Given the description of an element on the screen output the (x, y) to click on. 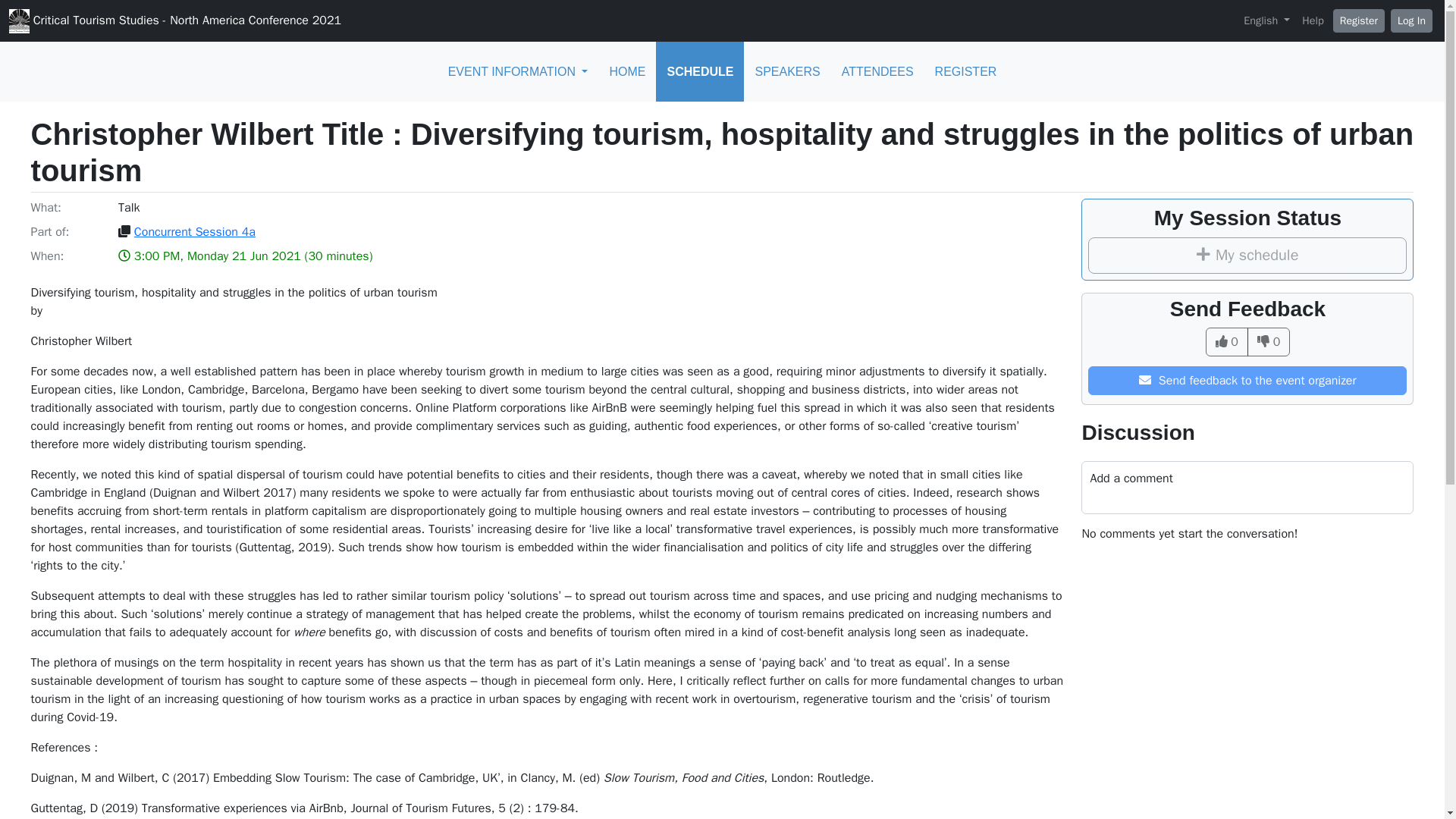
SCHEDULE (700, 71)
0 (1268, 341)
SPEAKERS (786, 71)
Help (1312, 21)
REGISTER (965, 71)
 Send feedback to the event organizer (1246, 380)
English (1266, 21)
ATTENDEES (877, 71)
Critical Tourism Studies - North America Conference 2021 (174, 21)
HOME (627, 71)
Log In (1411, 20)
Concurrent Session 4a (194, 231)
EVENT INFORMATION (518, 71)
0 (1226, 341)
Register (1358, 20)
